Given the description of an element on the screen output the (x, y) to click on. 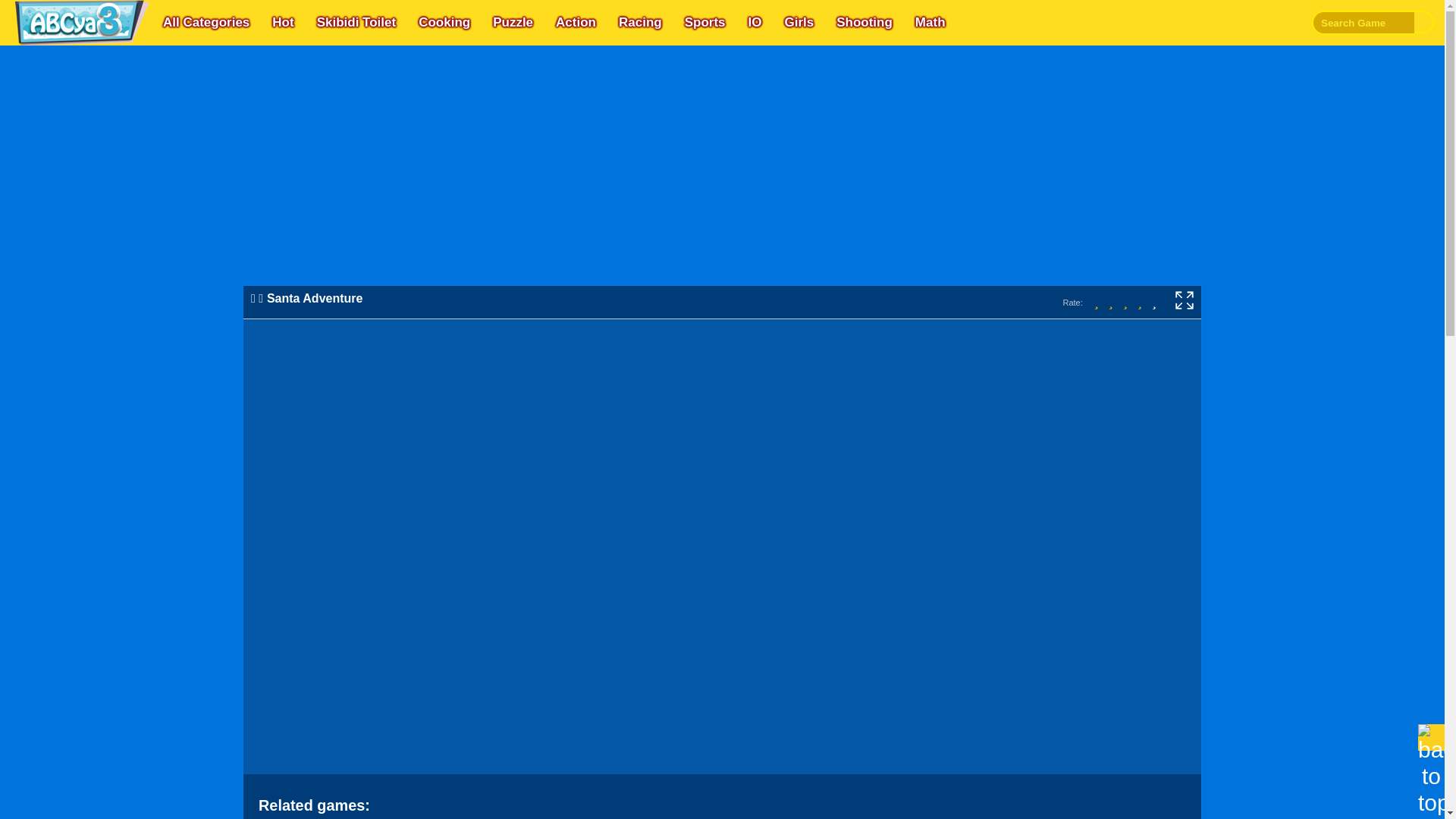
Cooking (443, 22)
Math (930, 22)
All Categories (206, 22)
IO (753, 22)
Girls (798, 22)
Action (576, 22)
Shooting (863, 22)
Cooking (443, 22)
Shooting (863, 22)
